Given the description of an element on the screen output the (x, y) to click on. 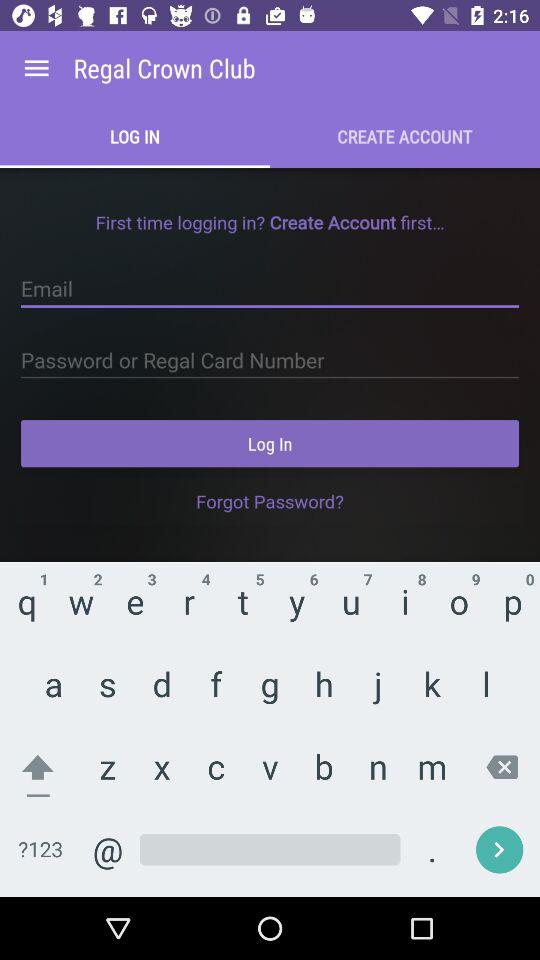
go to meanu (36, 68)
